Given the description of an element on the screen output the (x, y) to click on. 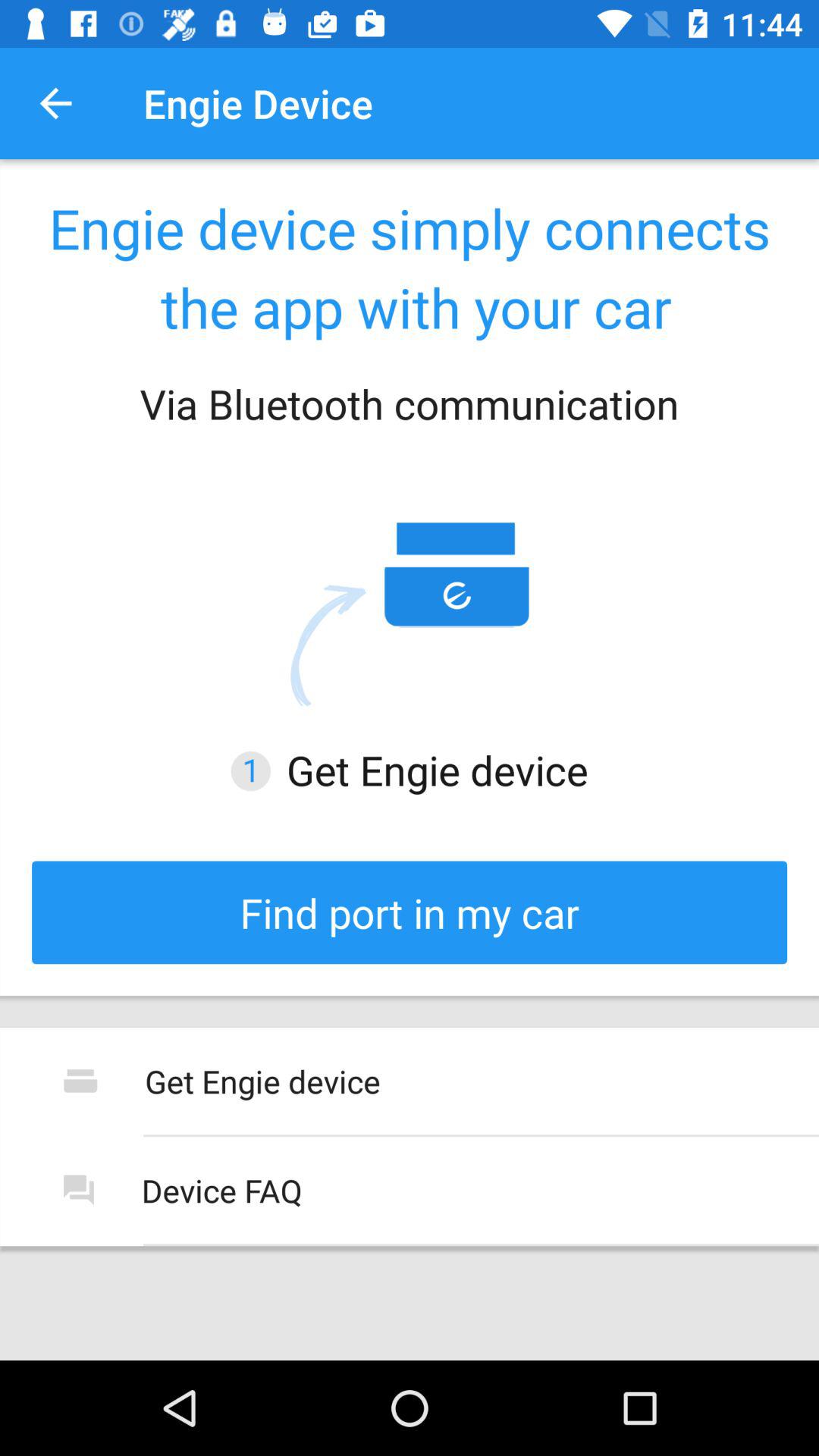
select the find port in (409, 912)
